Given the description of an element on the screen output the (x, y) to click on. 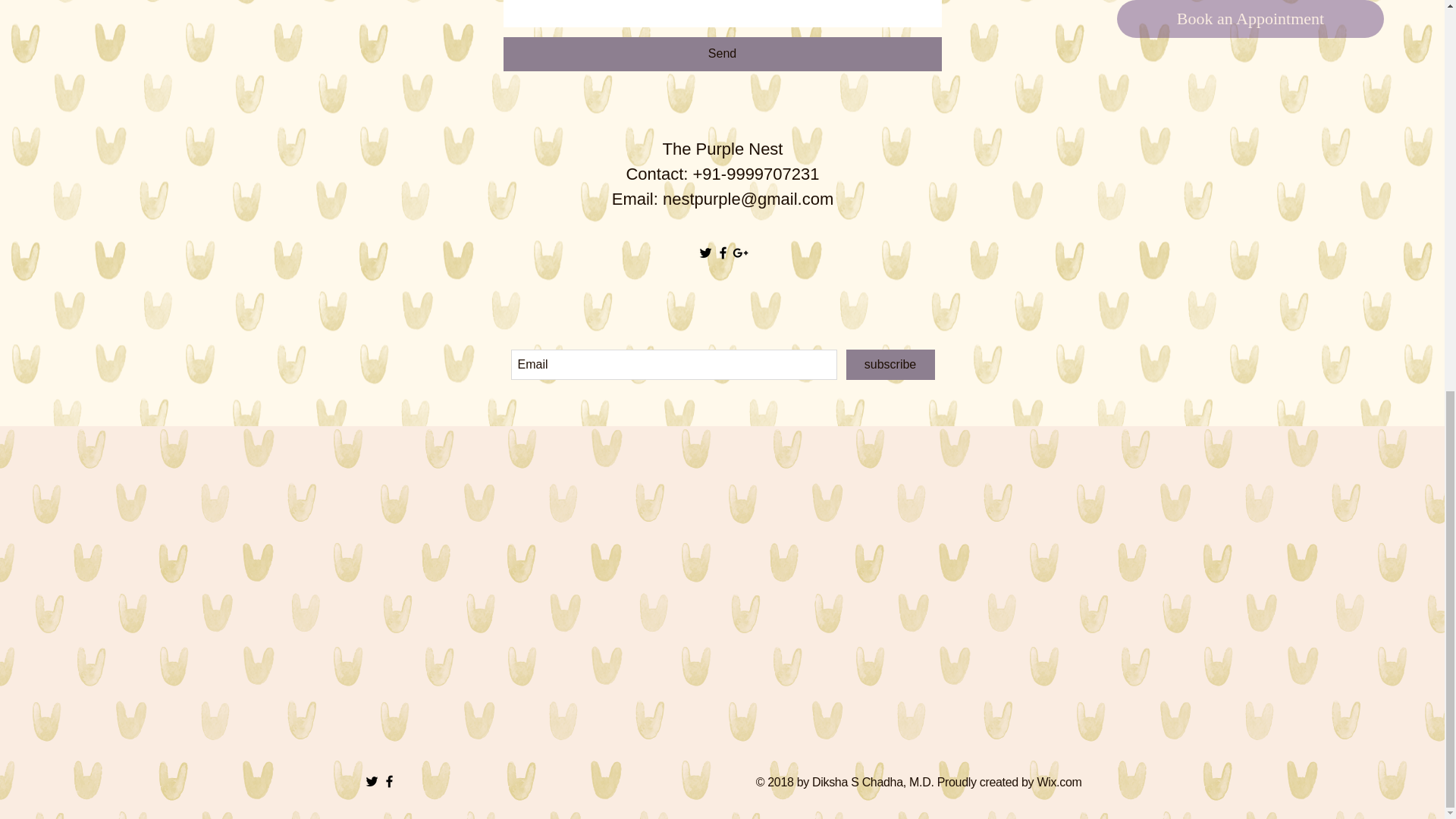
Send (722, 53)
subscribe (889, 364)
Wix.com (1058, 781)
